Given the description of an element on the screen output the (x, y) to click on. 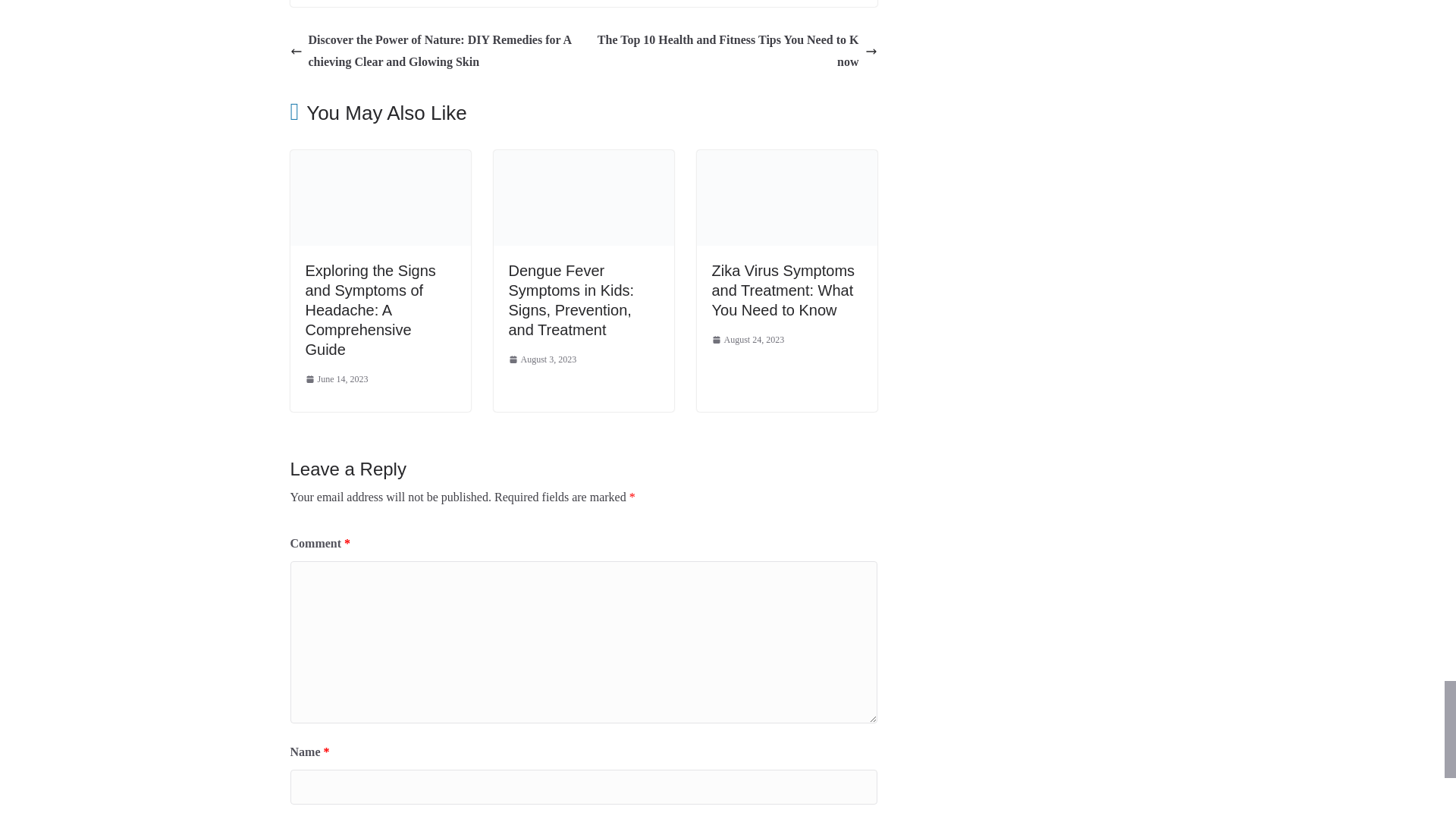
June 14, 2023 (336, 379)
August 3, 2023 (542, 360)
August 24, 2023 (747, 340)
The Top 10 Health and Fitness Tips You Need to Know (734, 51)
10:38 am (336, 379)
Zika Virus Symptoms and Treatment: What You Need to Know (782, 290)
